Given the description of an element on the screen output the (x, y) to click on. 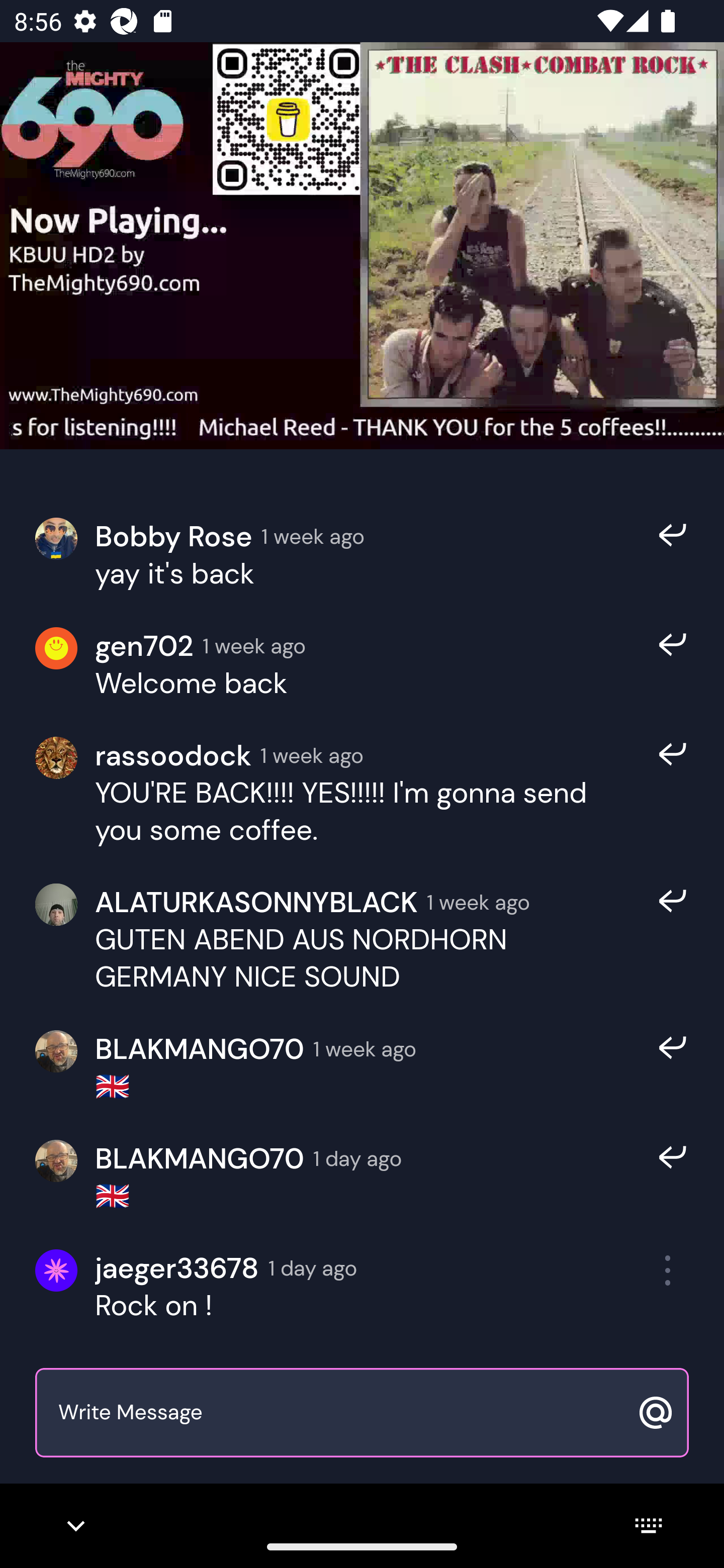
Bobby Rose (173, 536)
gen702 (143, 645)
rassoodock (172, 755)
ALATURKASONNYBLACK (255, 901)
BLAKMANGO70 (199, 1048)
BLAKMANGO70 (199, 1158)
jaeger33678 (176, 1268)
Write Message (340, 1413)
